Given the description of an element on the screen output the (x, y) to click on. 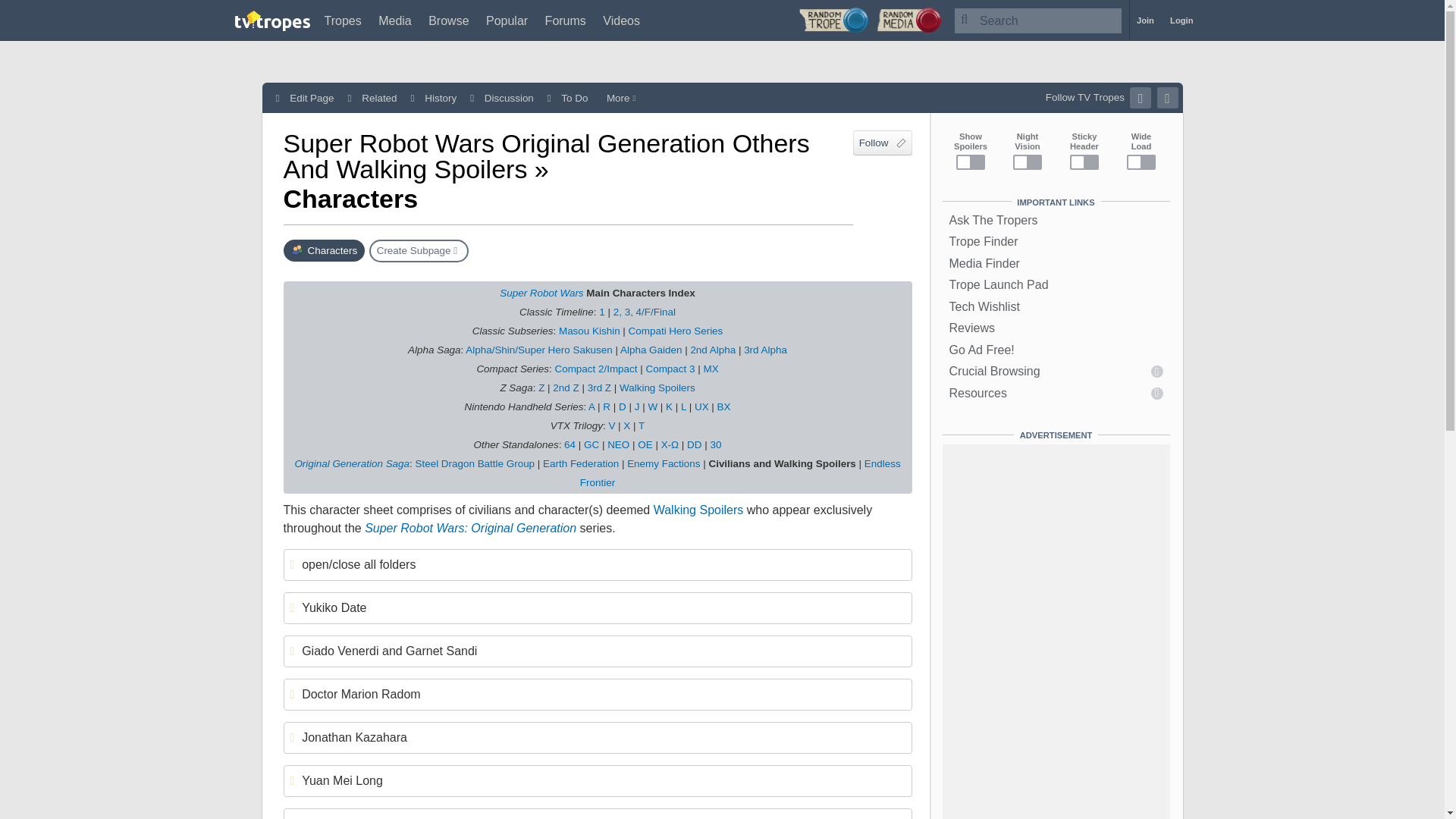
Videos (621, 20)
Tropes (342, 20)
Login (1181, 20)
Browse (448, 20)
The Characters page (324, 250)
Media (395, 20)
Popular (506, 20)
Forums (565, 20)
